Given the description of an element on the screen output the (x, y) to click on. 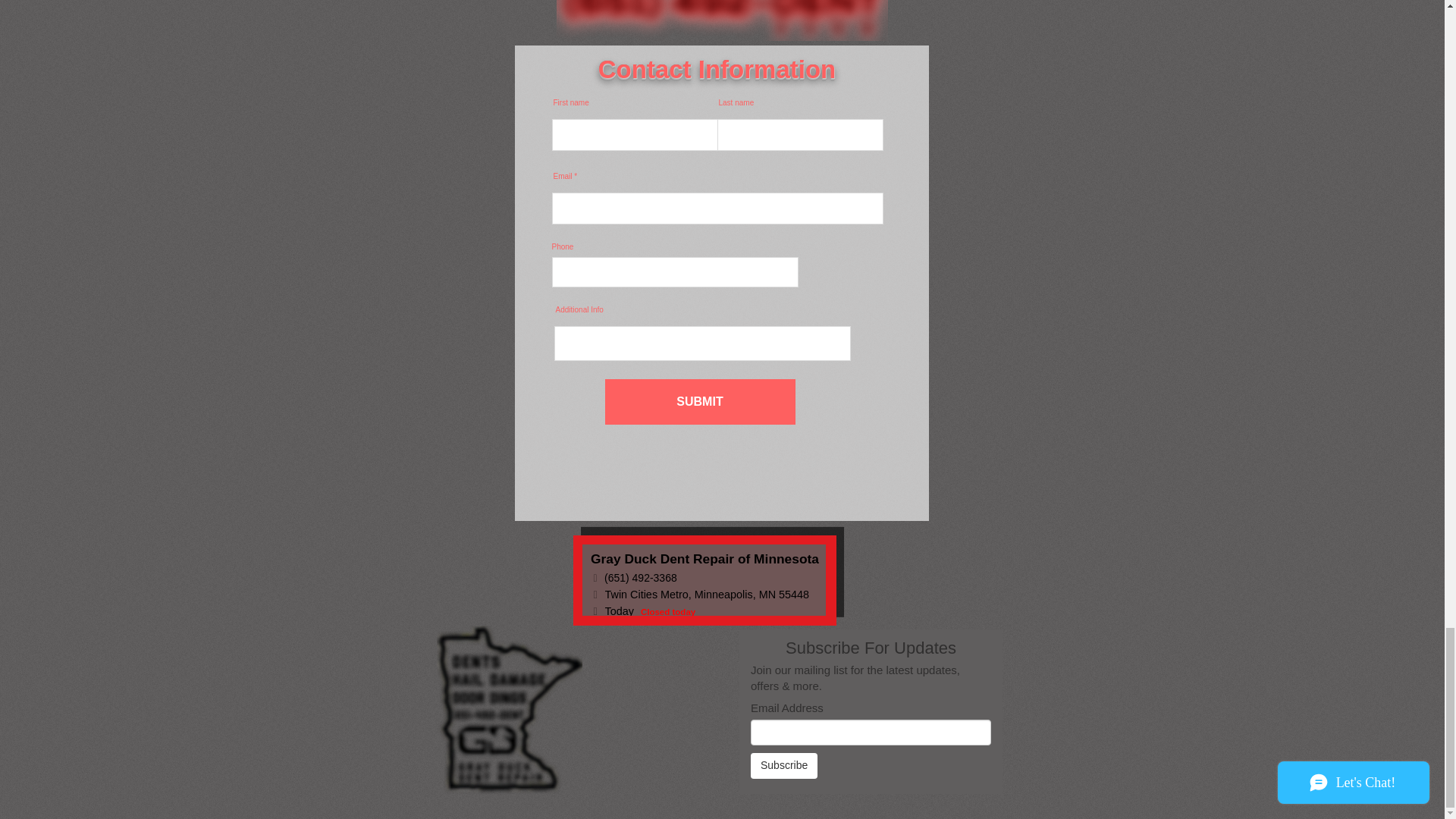
Contact Collection (869, 711)
Online Business Card (703, 579)
